Given the description of an element on the screen output the (x, y) to click on. 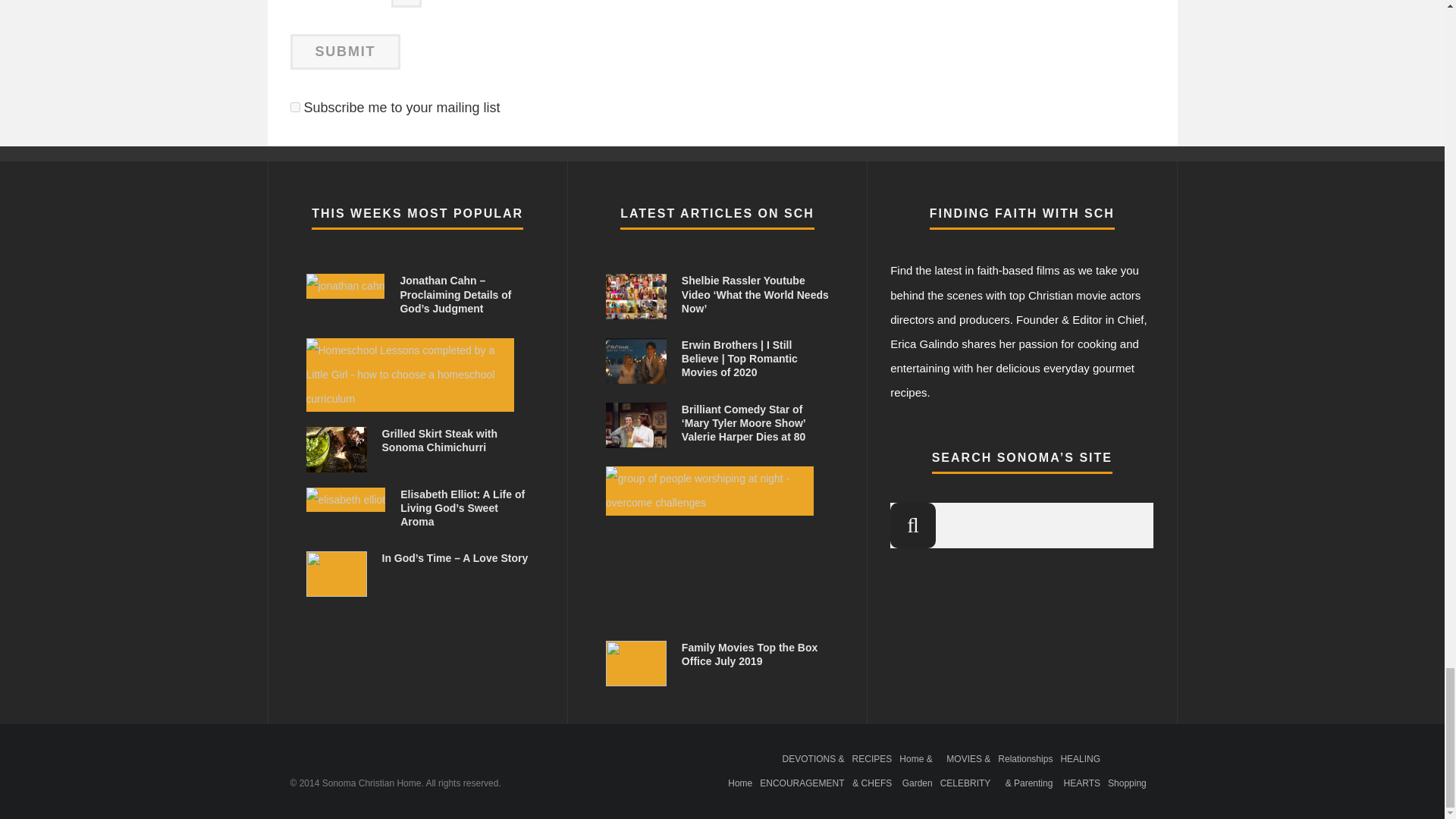
Submit (344, 51)
subscribe (294, 107)
